Given the description of an element on the screen output the (x, y) to click on. 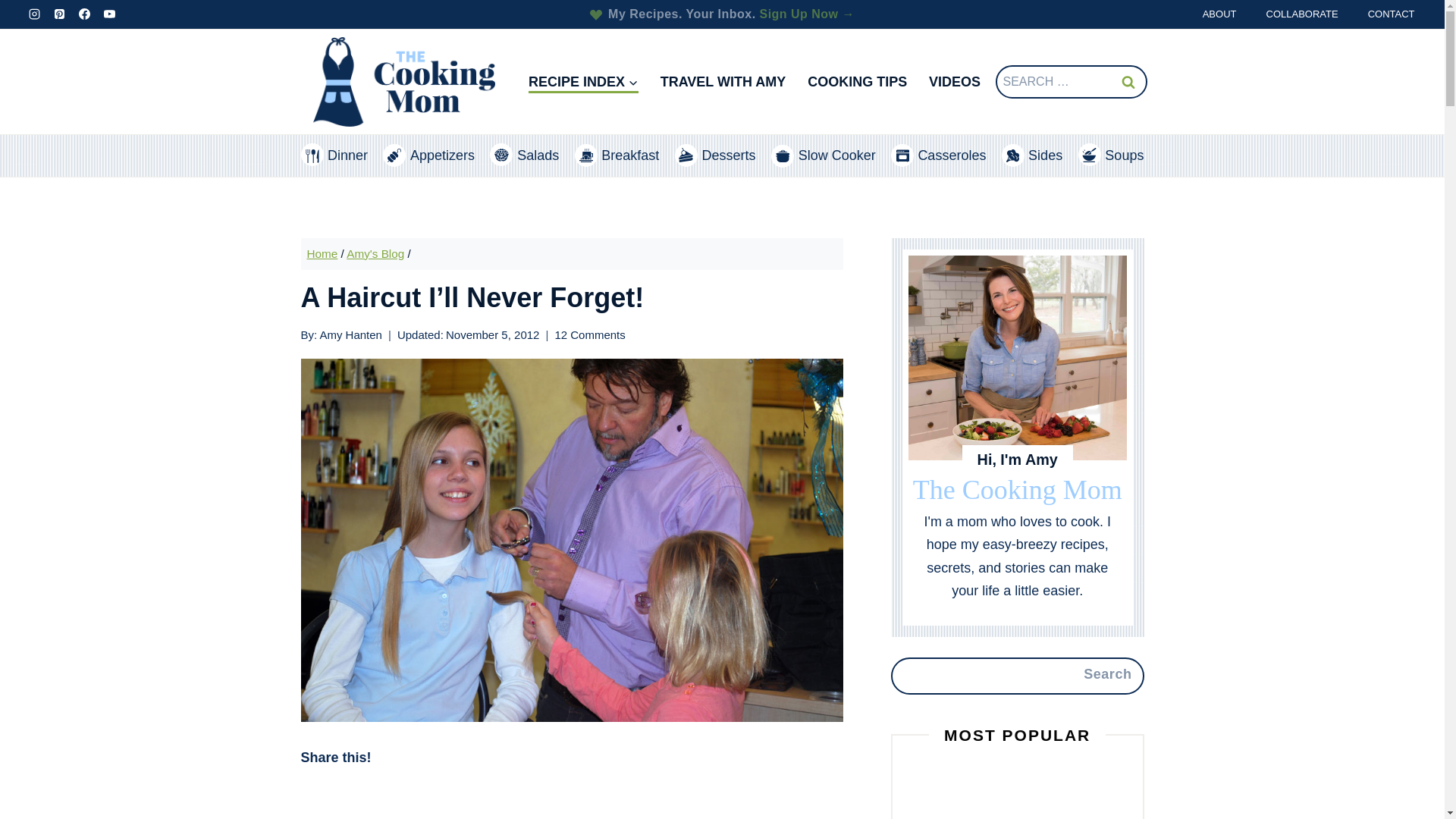
TRAVEL WITH AMY (722, 81)
ABOUT (1219, 14)
CONTACT (1390, 14)
Breakfast (617, 155)
Desserts (715, 155)
COOKING TIPS (857, 81)
VIDEOS (954, 81)
Salads (524, 155)
Soups (1111, 155)
RECIPE INDEX (582, 81)
